Given the description of an element on the screen output the (x, y) to click on. 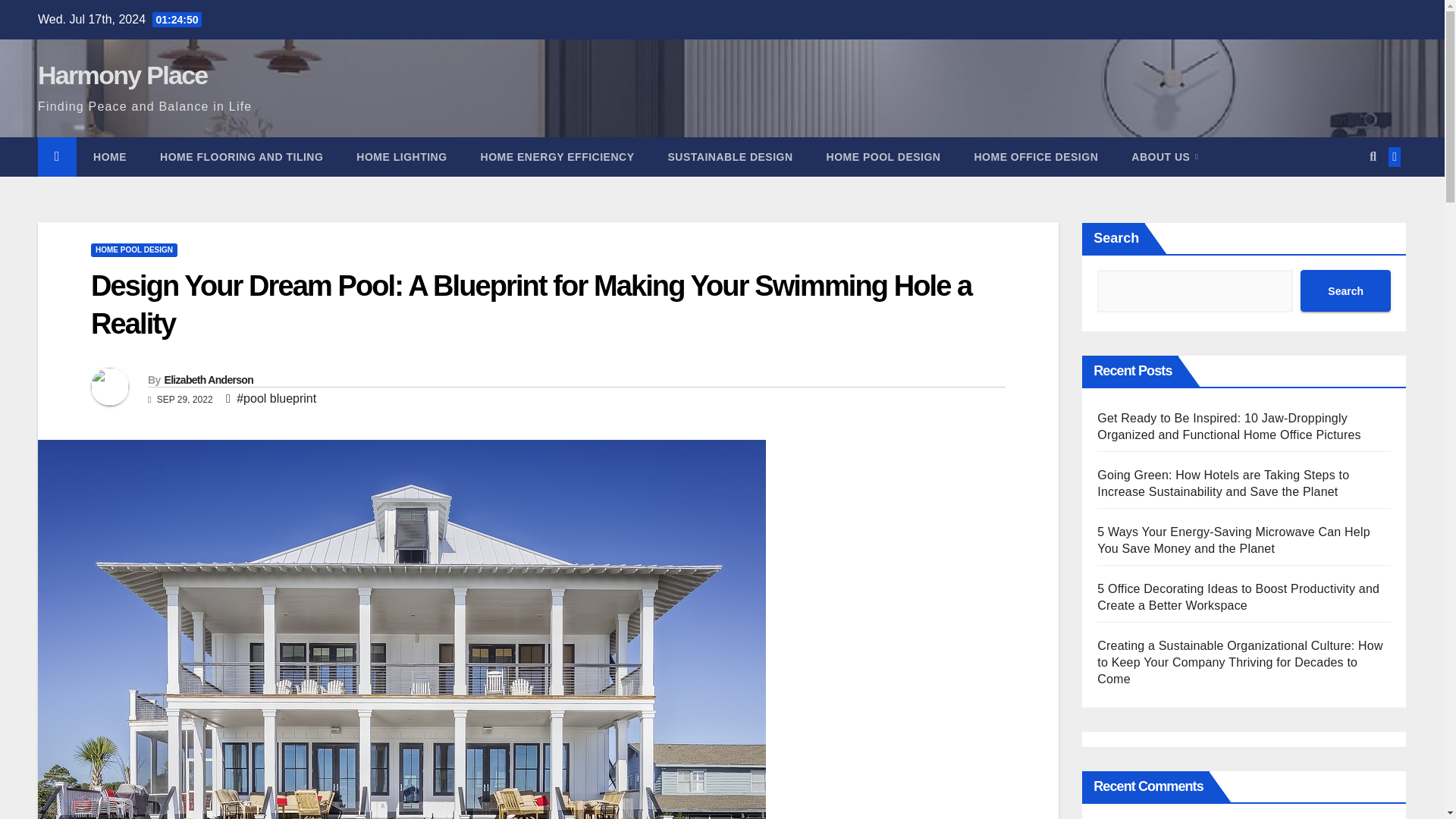
HOME LIGHTING (401, 156)
SUSTAINABLE DESIGN (729, 156)
Home Flooring and Tiling (240, 156)
Home Office Design (1035, 156)
HOME OFFICE DESIGN (1035, 156)
Sustainable Design (729, 156)
HOME ENERGY EFFICIENCY (557, 156)
HOME POOL DESIGN (883, 156)
HOME POOL DESIGN (133, 250)
HOME (109, 156)
Elizabeth Anderson (208, 379)
Home Energy Efficiency (557, 156)
